Given the description of an element on the screen output the (x, y) to click on. 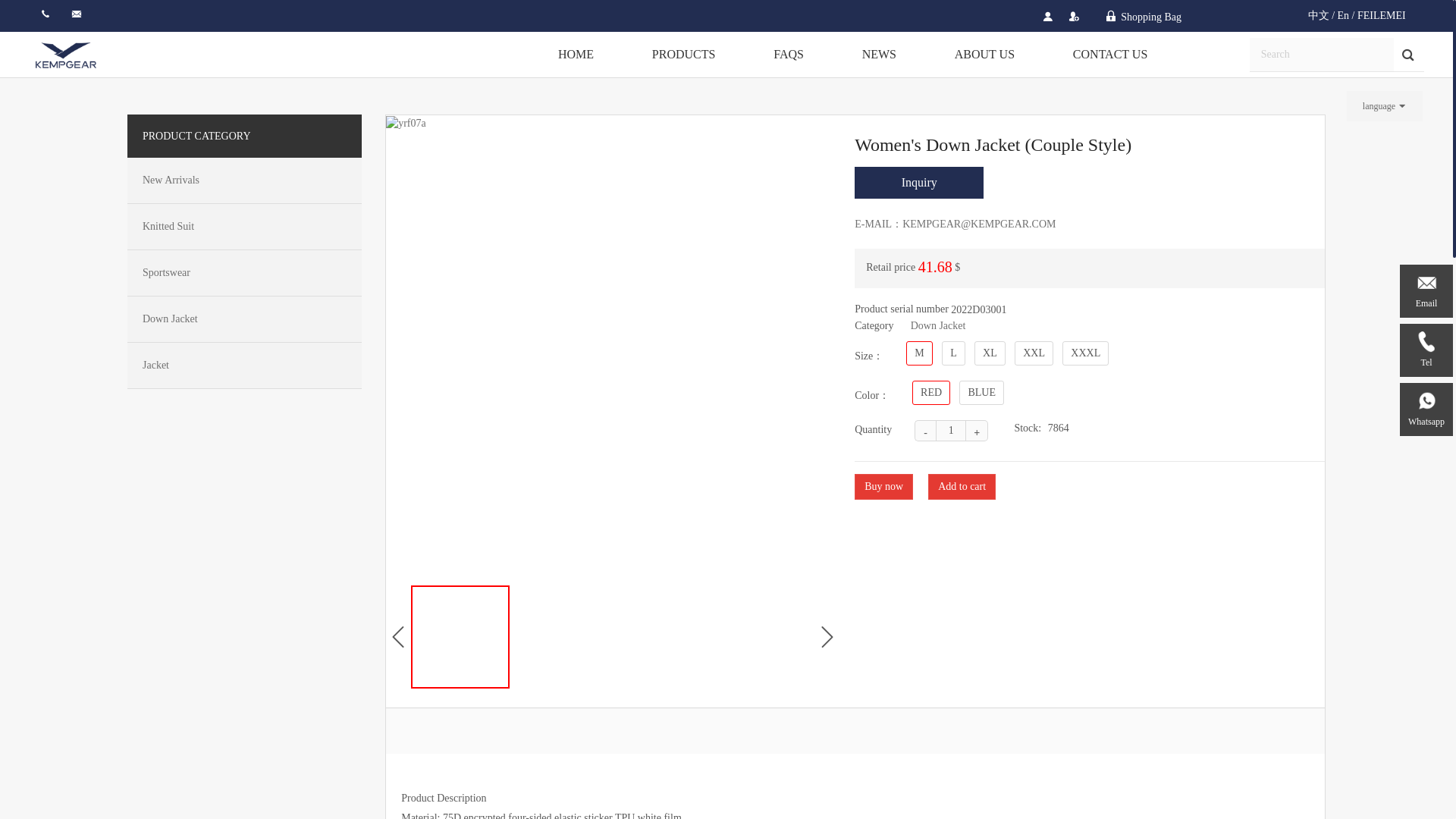
Jacket (232, 365)
Down Jacket (938, 325)
HOME (576, 53)
KEMPGEAR (65, 54)
PRODUCTS (683, 53)
Down Jacket (232, 319)
NEWS (878, 53)
En (1343, 15)
FEILEMEI (1381, 15)
New Arrivals (232, 180)
Add to cart (961, 486)
Knitted Suit (232, 226)
ABOUT US (983, 53)
Sportswear (232, 272)
CONTACT US (1109, 53)
